Given the description of an element on the screen output the (x, y) to click on. 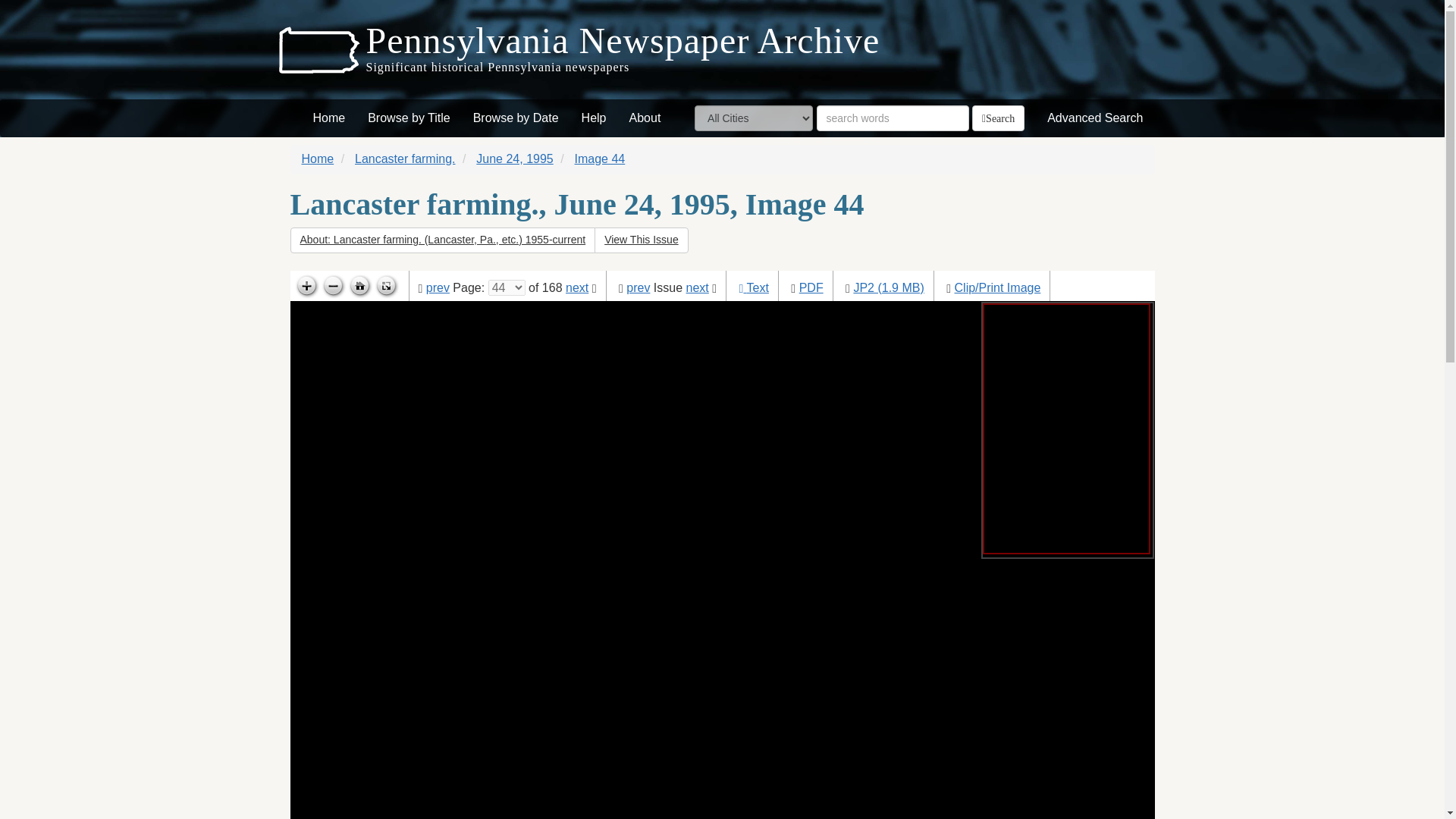
Browse by Title (408, 118)
Zoom out (333, 286)
prev (637, 287)
About (644, 118)
Text (757, 287)
Lancaster farming. (405, 158)
Advanced Search (1094, 118)
Home (328, 118)
next (577, 287)
Toggle full page (385, 286)
June 24, 1995 (514, 158)
prev (437, 287)
Go home (359, 286)
Image 44 (600, 158)
Zoom in (305, 286)
